Given the description of an element on the screen output the (x, y) to click on. 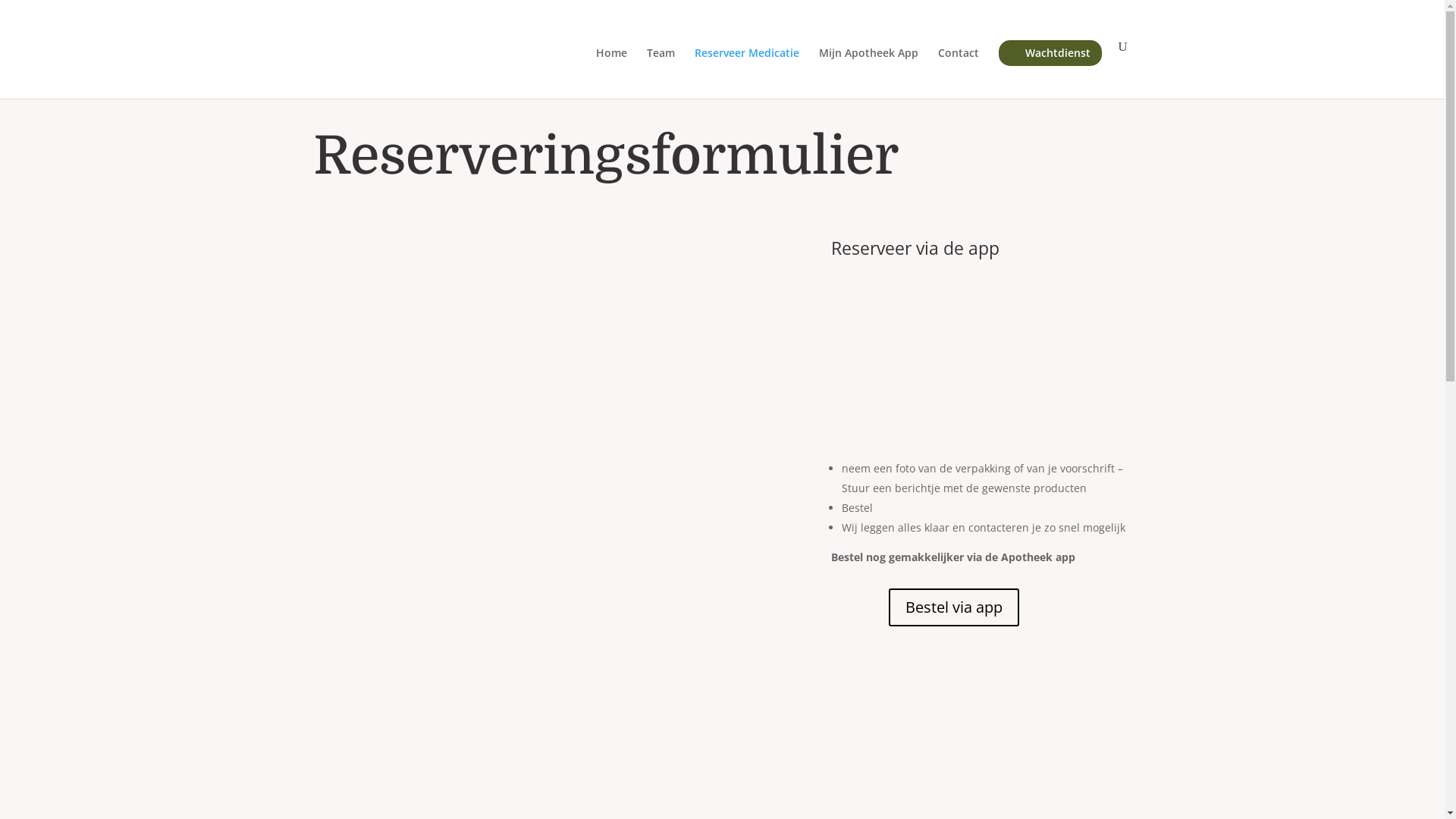
Home Element type: text (611, 72)
Mijn Apotheek App Element type: text (868, 72)
Contact Element type: text (957, 72)
Team Element type: text (660, 72)
Reserveer Medicatie Element type: text (746, 72)
Bestel via app Element type: text (953, 607)
Bestel Element type: text (549, 774)
Wachtdienst Element type: text (1049, 52)
